Given the description of an element on the screen output the (x, y) to click on. 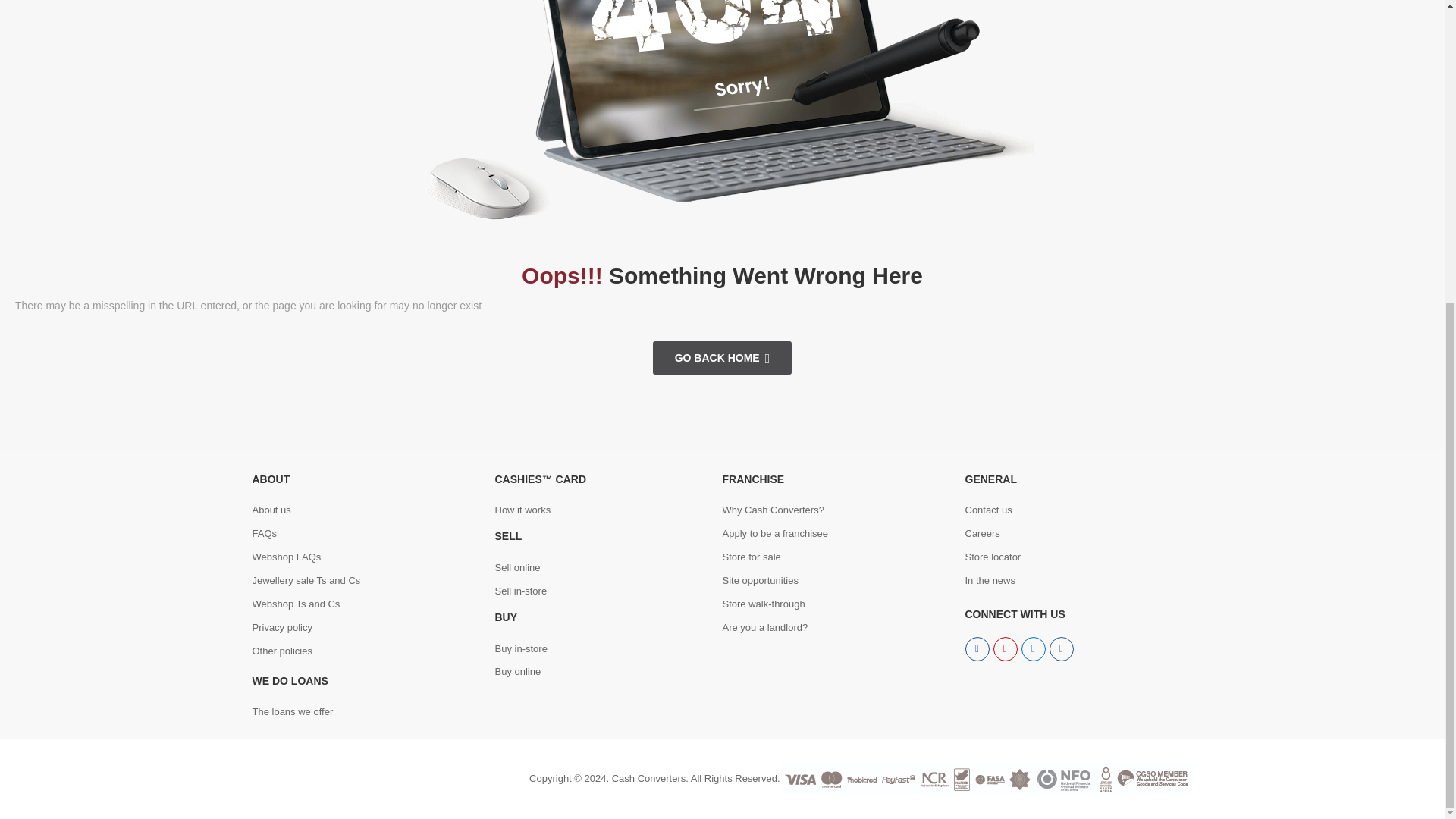
facebook (975, 648)
instagram (1004, 648)
youtube (1061, 648)
linkedin (1032, 648)
